Given the description of an element on the screen output the (x, y) to click on. 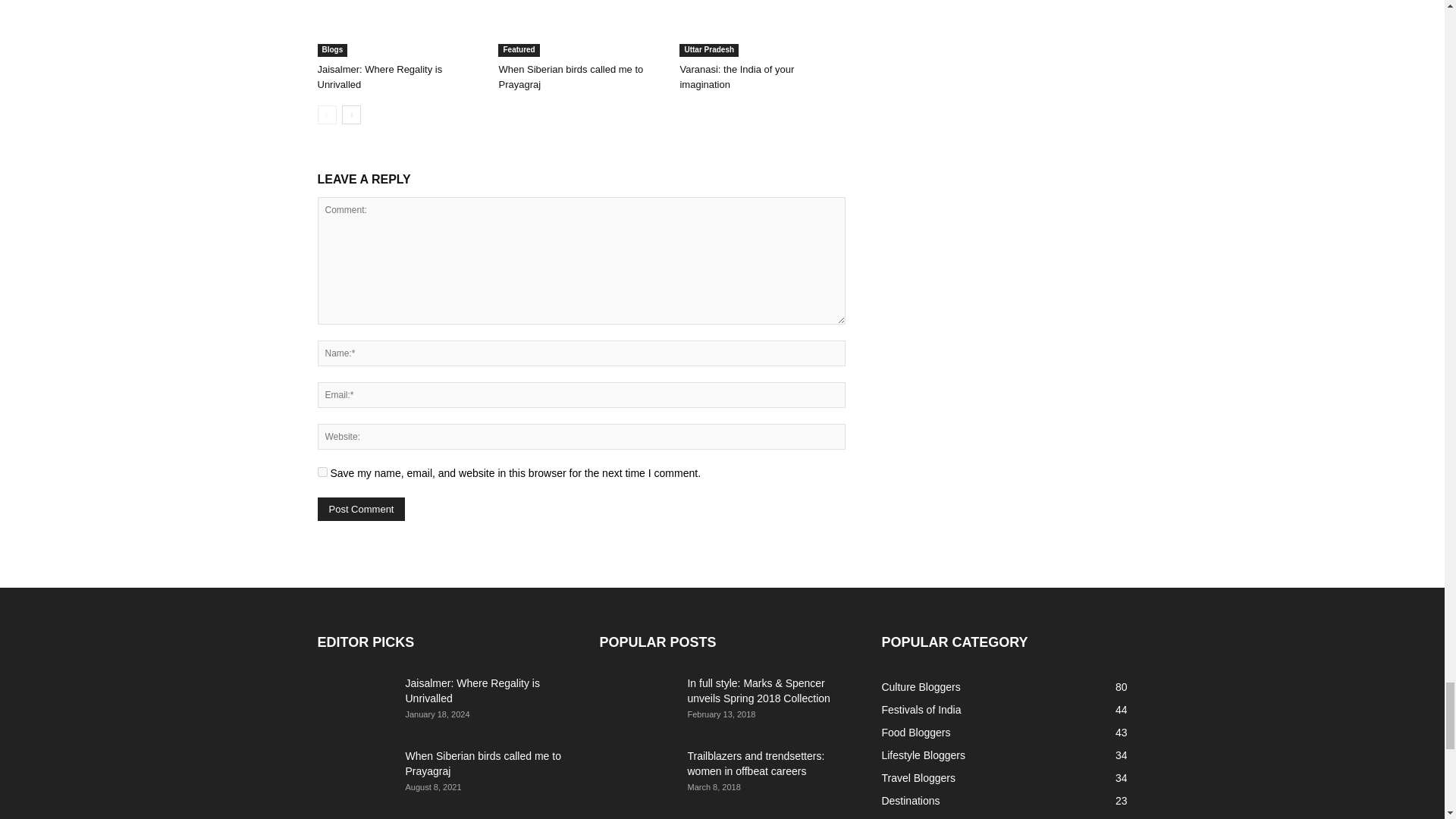
yes (321, 471)
Post Comment (360, 508)
